Given the description of an element on the screen output the (x, y) to click on. 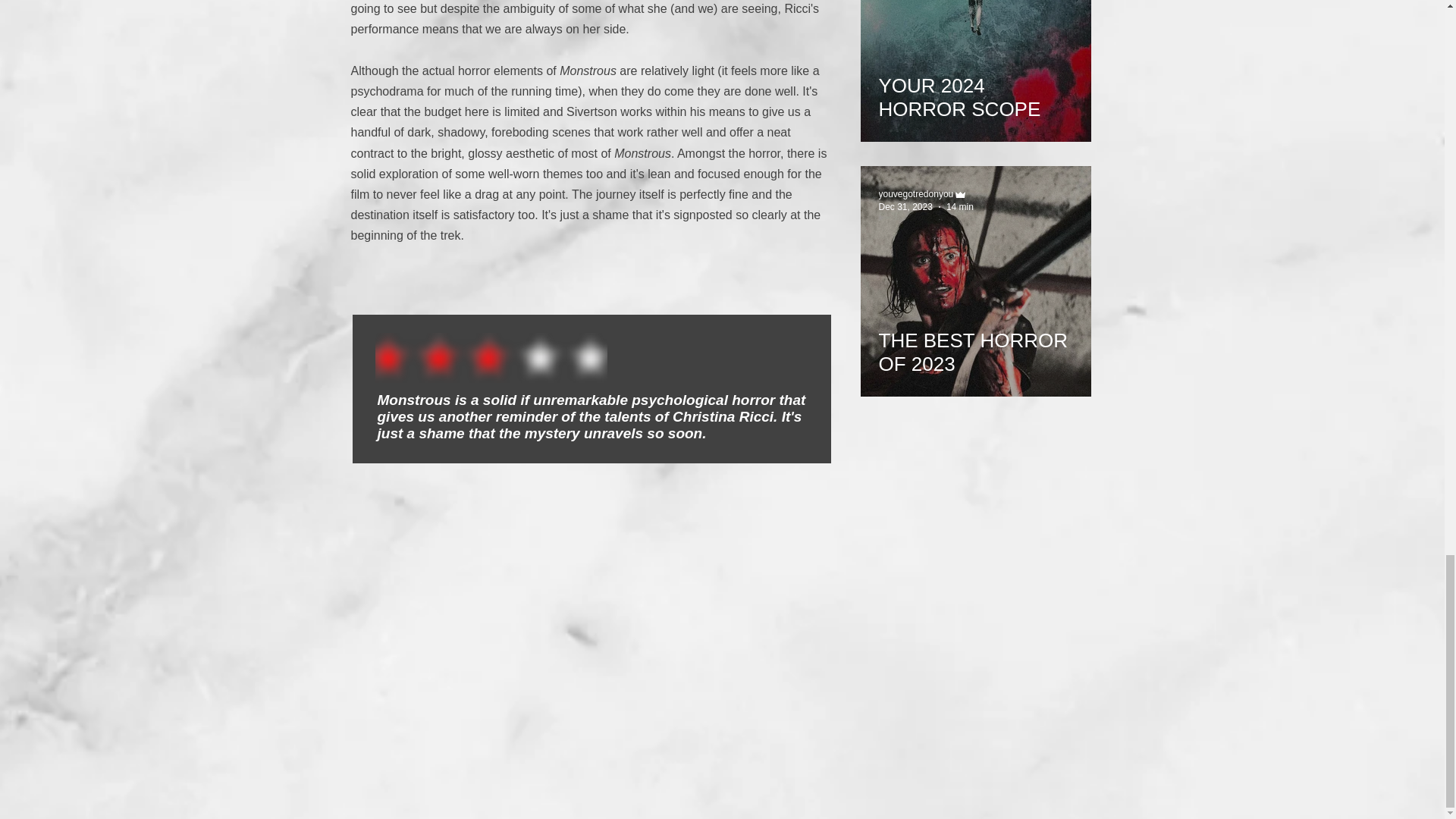
Dec 31, 2023 (904, 206)
THE BEST HORROR OF 2023 (974, 345)
14 min (960, 206)
YOUR 2024 HORROR SCOPE (974, 90)
youvegotredonyou (915, 194)
